Given the description of an element on the screen output the (x, y) to click on. 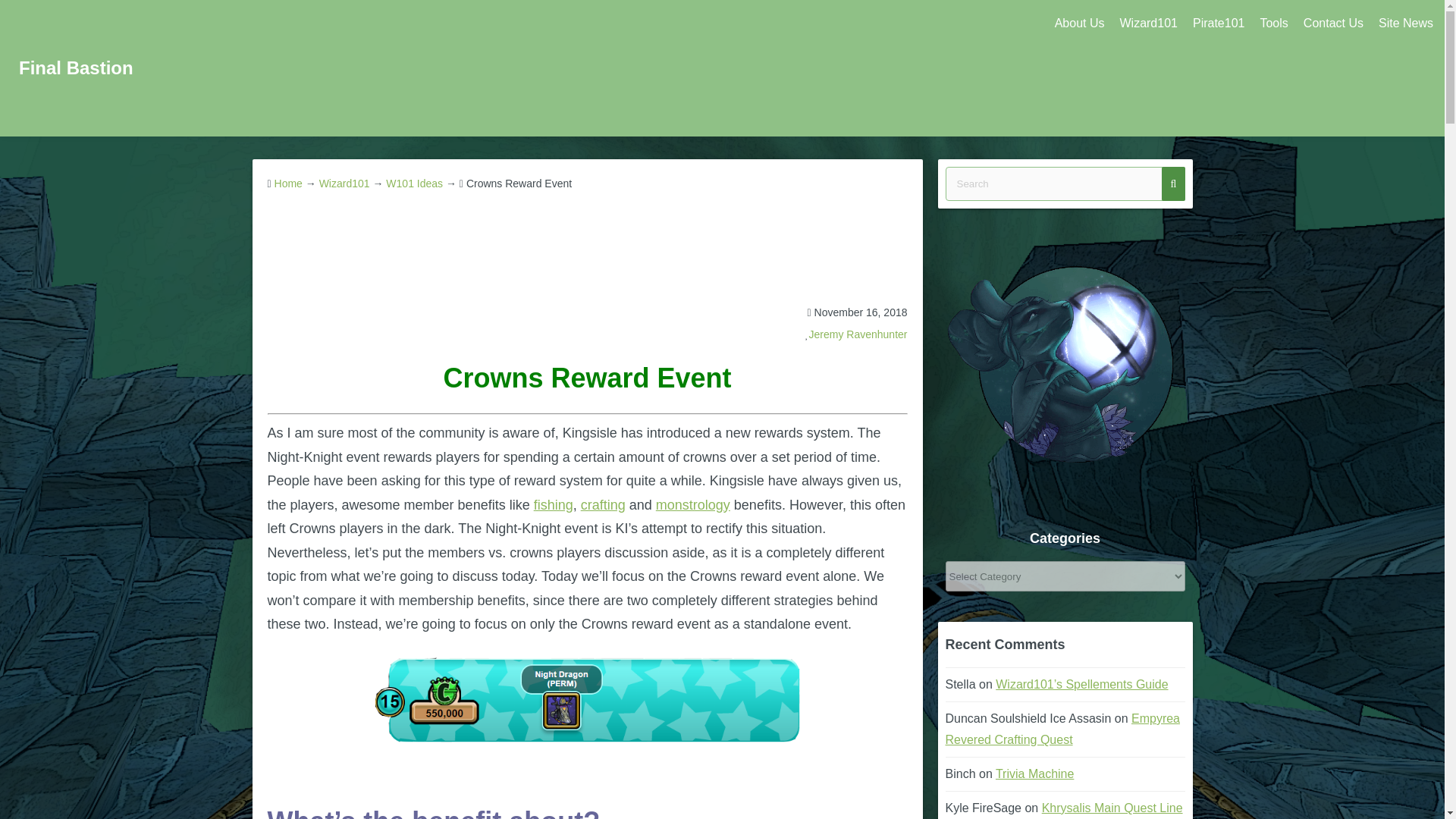
Contact Us (1333, 23)
Wizard101 (1148, 23)
Posts by Jeremy Ravenhunter (858, 333)
Home (288, 183)
About Us (1079, 23)
Site News (1406, 23)
Final Bastion (75, 67)
Tools (1273, 23)
Pirate101 (1218, 23)
